Given the description of an element on the screen output the (x, y) to click on. 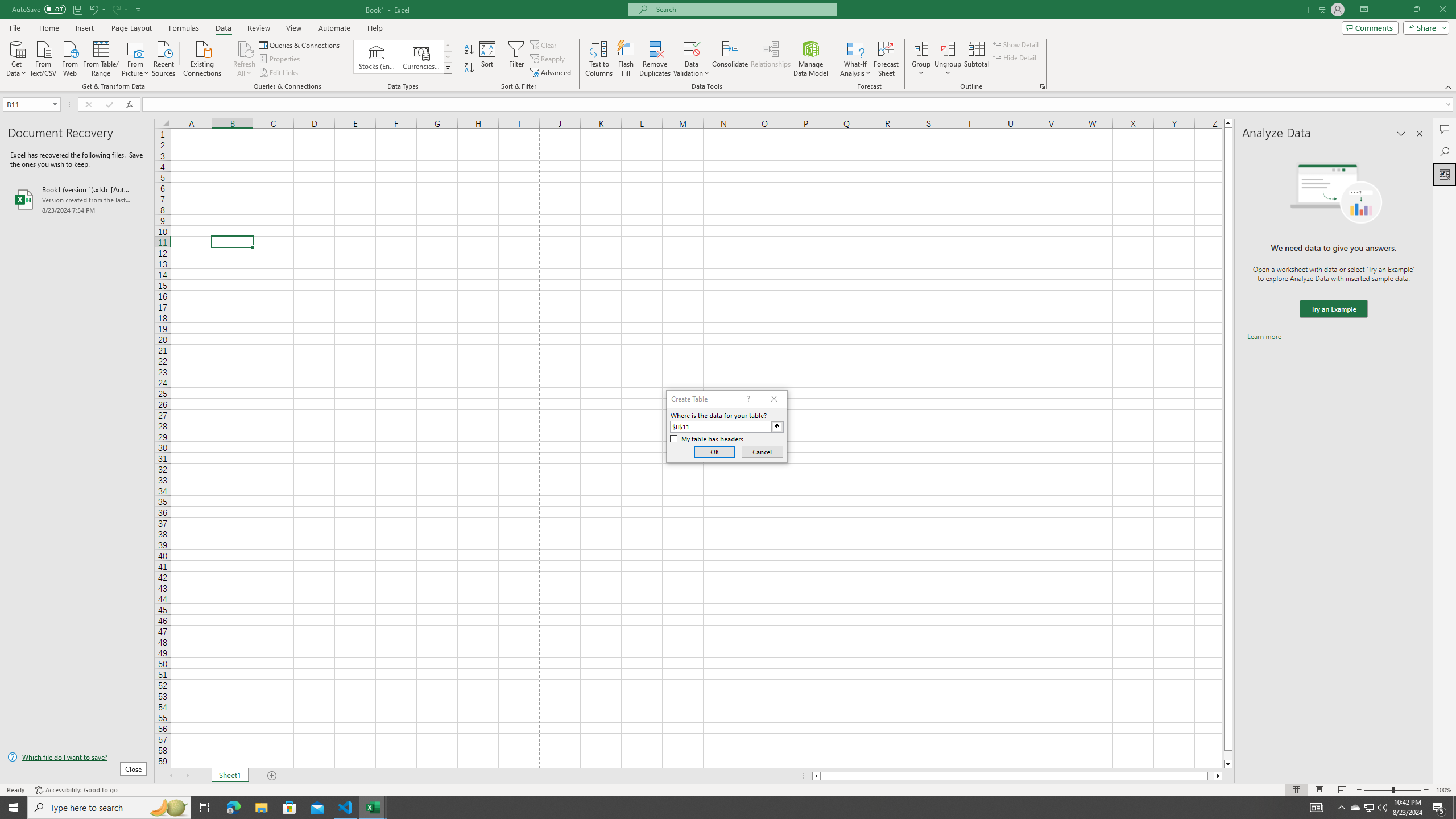
More Options (947, 68)
Which file do I want to save? (77, 757)
Normal (1296, 790)
Zoom In (1426, 790)
Quick Access Toolbar (77, 9)
Data Validation... (691, 48)
Refresh All (244, 58)
Save (77, 9)
Group and Outline Settings (1042, 85)
Collapse the Ribbon (1448, 86)
Close (1442, 9)
Data (223, 28)
Sort... (487, 58)
Clear (544, 44)
Zoom (1392, 790)
